Given the description of an element on the screen output the (x, y) to click on. 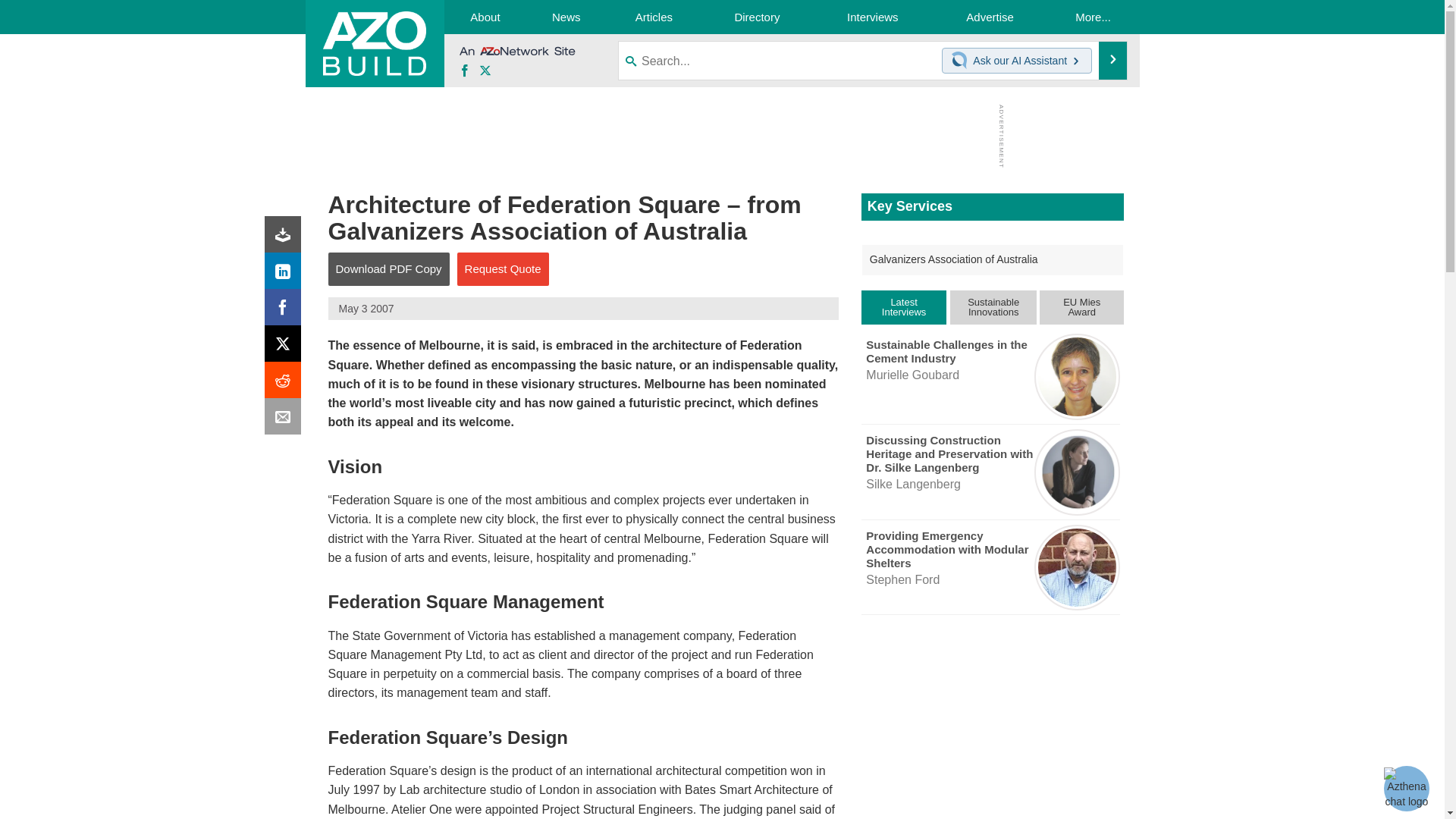
About (484, 17)
Email (285, 420)
Chat with our AI Assistant Ask our AI Assistant (1017, 60)
LinkedIn (285, 275)
News (565, 17)
X (485, 71)
Articles (653, 17)
Facebook (464, 71)
X (285, 348)
